Given the description of an element on the screen output the (x, y) to click on. 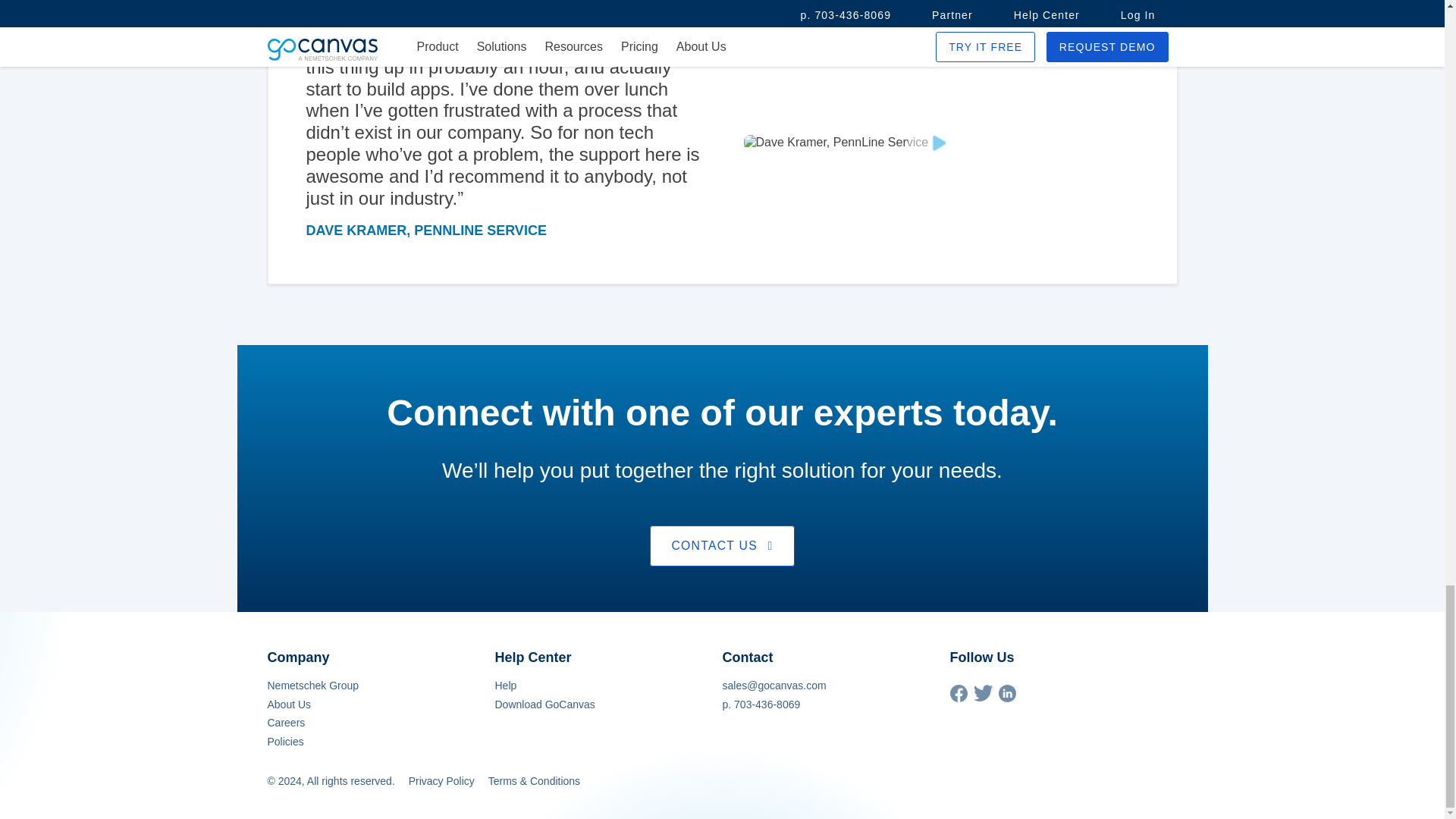
GoCanvas Twitter (982, 697)
GoCanvas LinkedIn (1005, 698)
GoCanvas Facebook (957, 698)
